Given the description of an element on the screen output the (x, y) to click on. 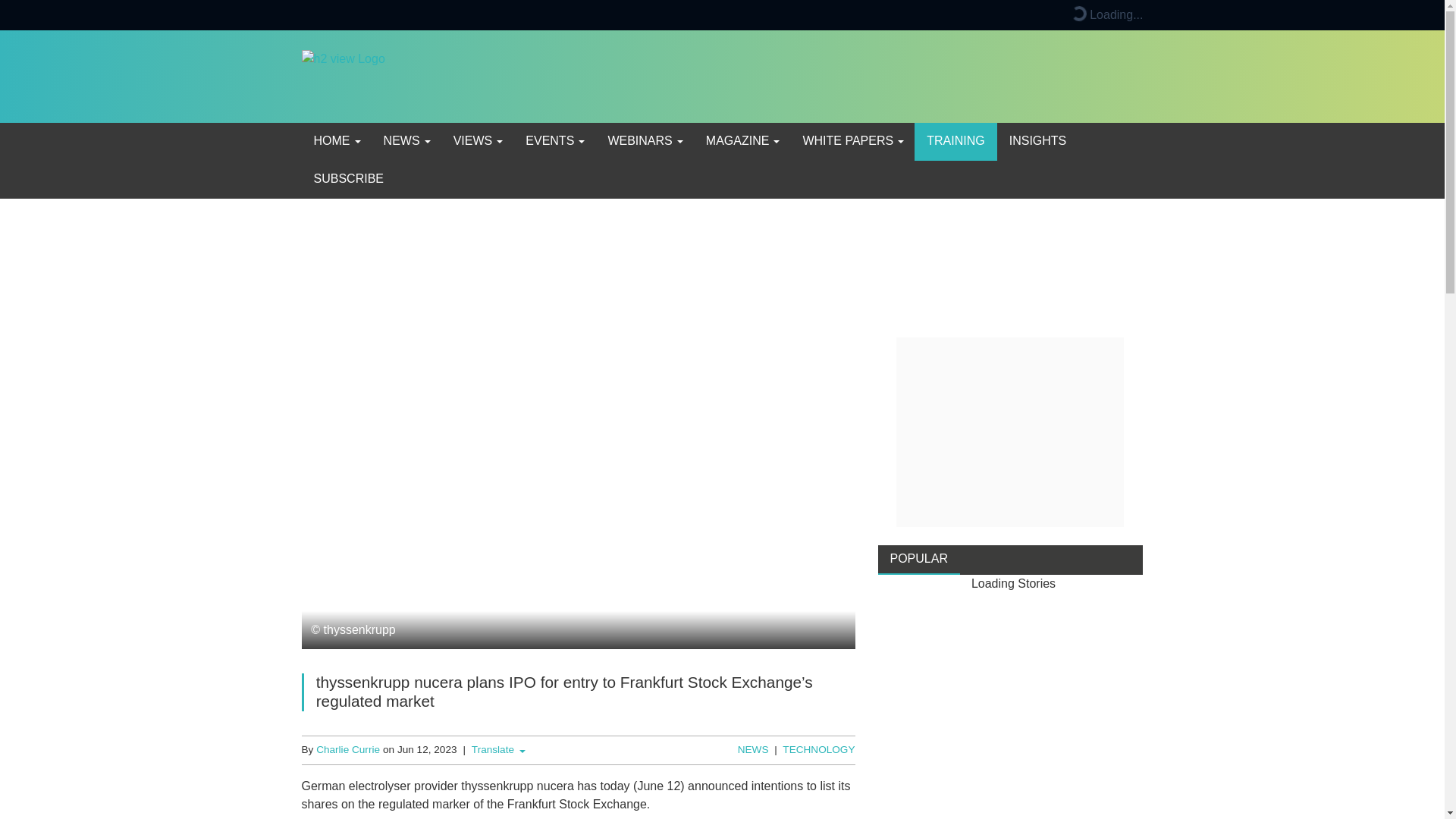
NEWS (406, 140)
H2 View (343, 74)
VIEWS (477, 140)
News (406, 140)
HOME (336, 140)
Home (336, 140)
